Given the description of an element on the screen output the (x, y) to click on. 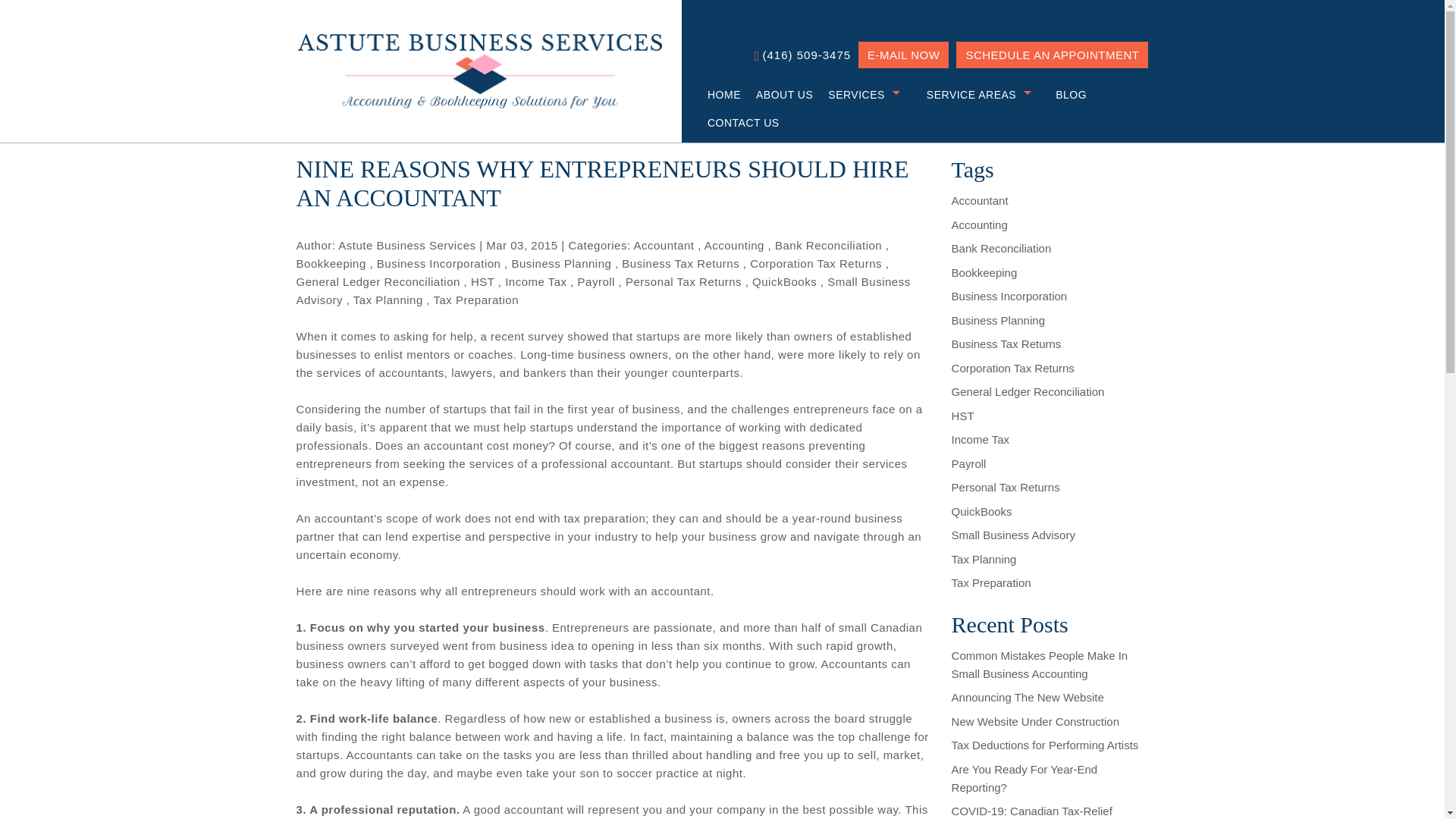
Business Tax Returns (680, 263)
Accounting (734, 245)
HOME (717, 94)
CONTACT US (735, 122)
BLOG (1064, 94)
Bank Reconciliation (828, 245)
HST (482, 281)
General Ledger Reconciliation (378, 281)
Payroll (596, 281)
E-MAIL NOW (904, 54)
